Given the description of an element on the screen output the (x, y) to click on. 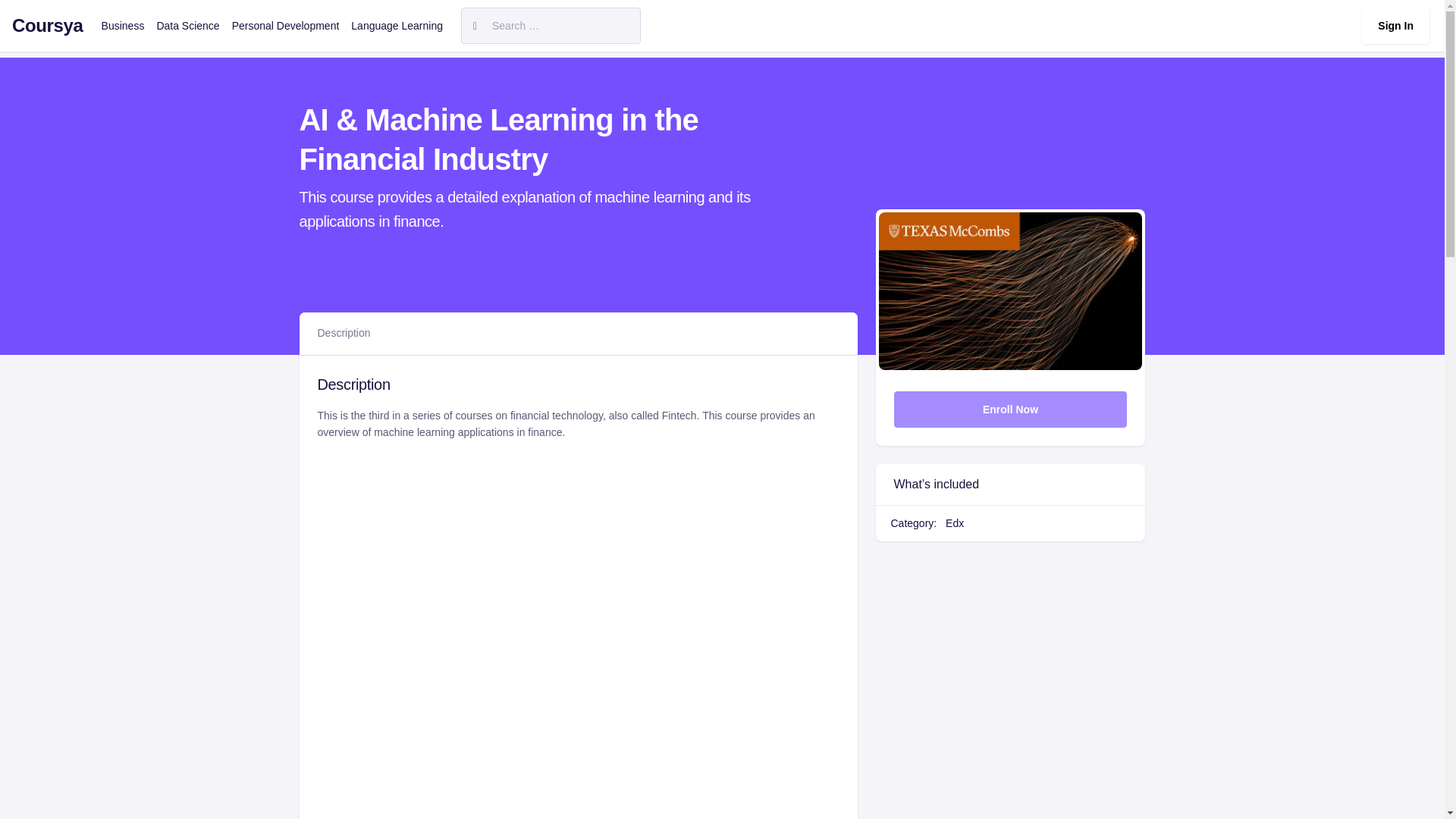
Coursya (46, 25)
Language Learning (396, 25)
Personal Development (285, 25)
Search for: (550, 25)
Data Science (187, 25)
Sign In (1395, 25)
Enroll Now (1009, 409)
Business (123, 25)
Edx (953, 522)
Description (343, 333)
